Given the description of an element on the screen output the (x, y) to click on. 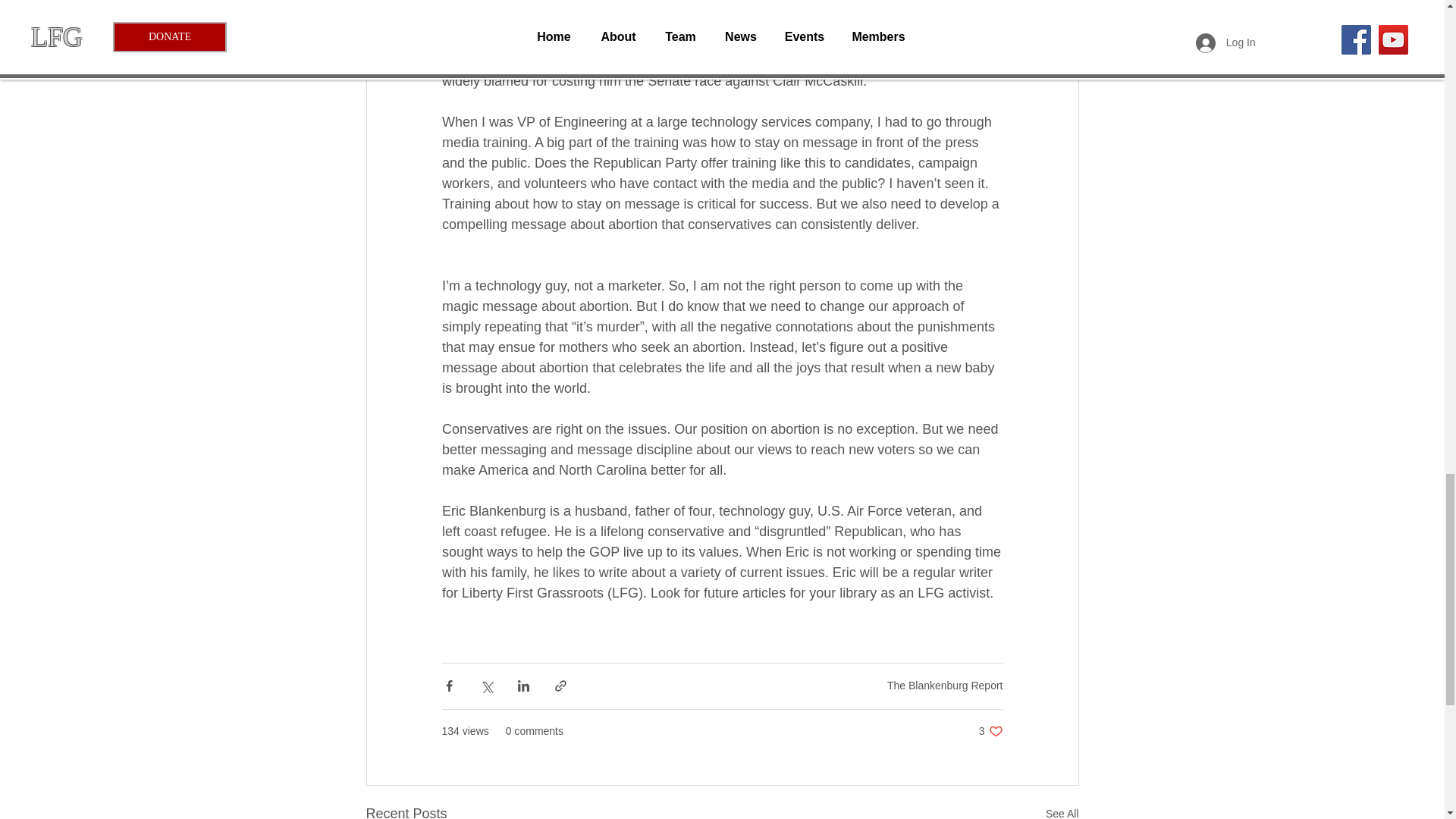
See All (1061, 811)
The Blankenburg Report (990, 730)
